Given the description of an element on the screen output the (x, y) to click on. 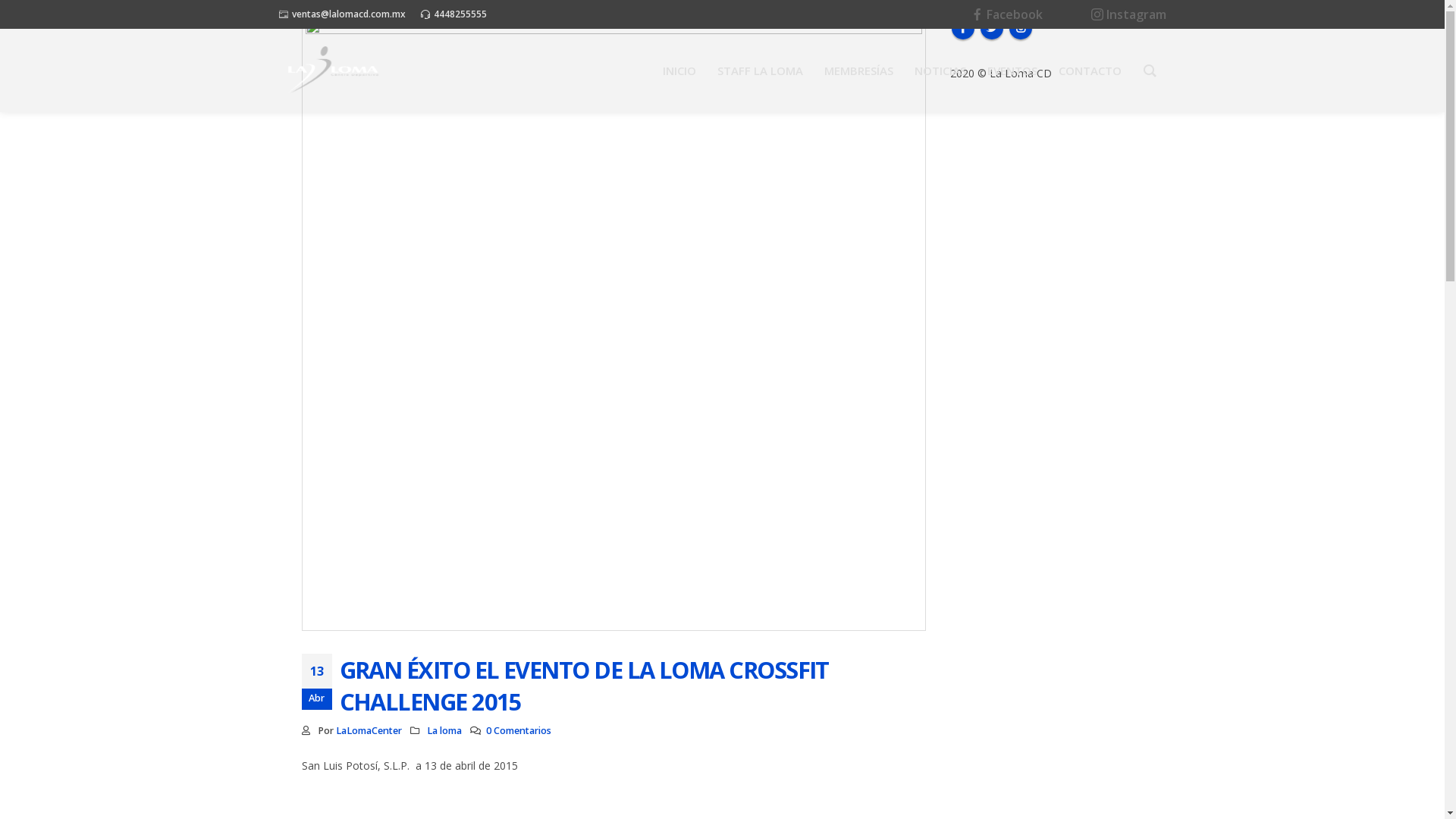
INICIO Element type: text (679, 69)
4448255555 Element type: text (459, 13)
Facebook Element type: text (1005, 14)
La loma Element type: text (443, 730)
ventas@lalomacd.com.mx Element type: text (347, 13)
STAFF LA LOMA Element type: text (760, 69)
LaLomaCenter Element type: text (368, 730)
Facebook Element type: text (961, 27)
Twitter Element type: text (990, 27)
EVENTOS Element type: text (1012, 69)
NOTICIAS Element type: text (940, 69)
0 Comentarios Element type: text (518, 730)
CONTACTO Element type: text (1089, 69)
Instagram Element type: text (1127, 14)
Instagram Element type: text (1019, 27)
